Given the description of an element on the screen output the (x, y) to click on. 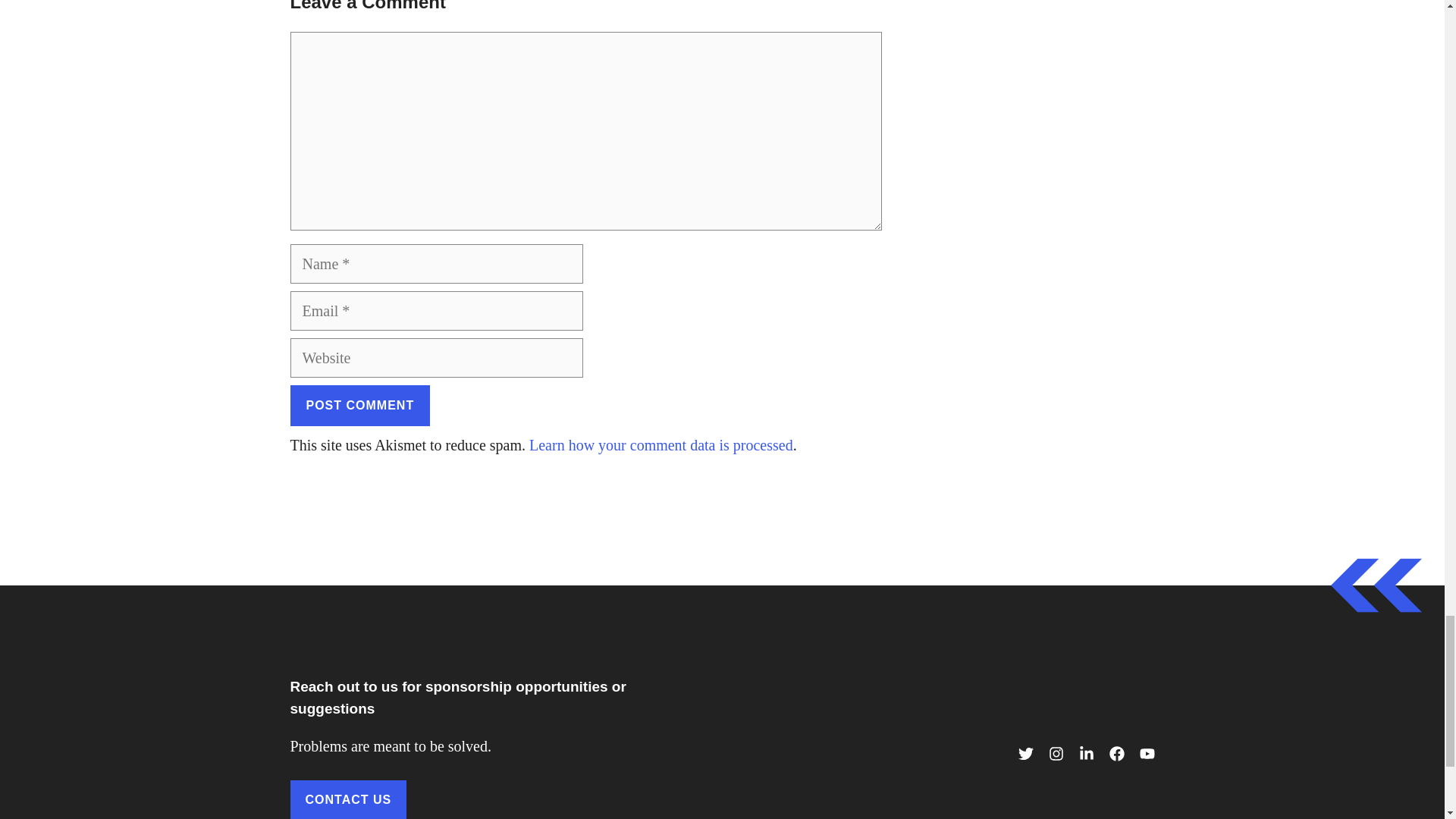
Post Comment (359, 404)
